Given the description of an element on the screen output the (x, y) to click on. 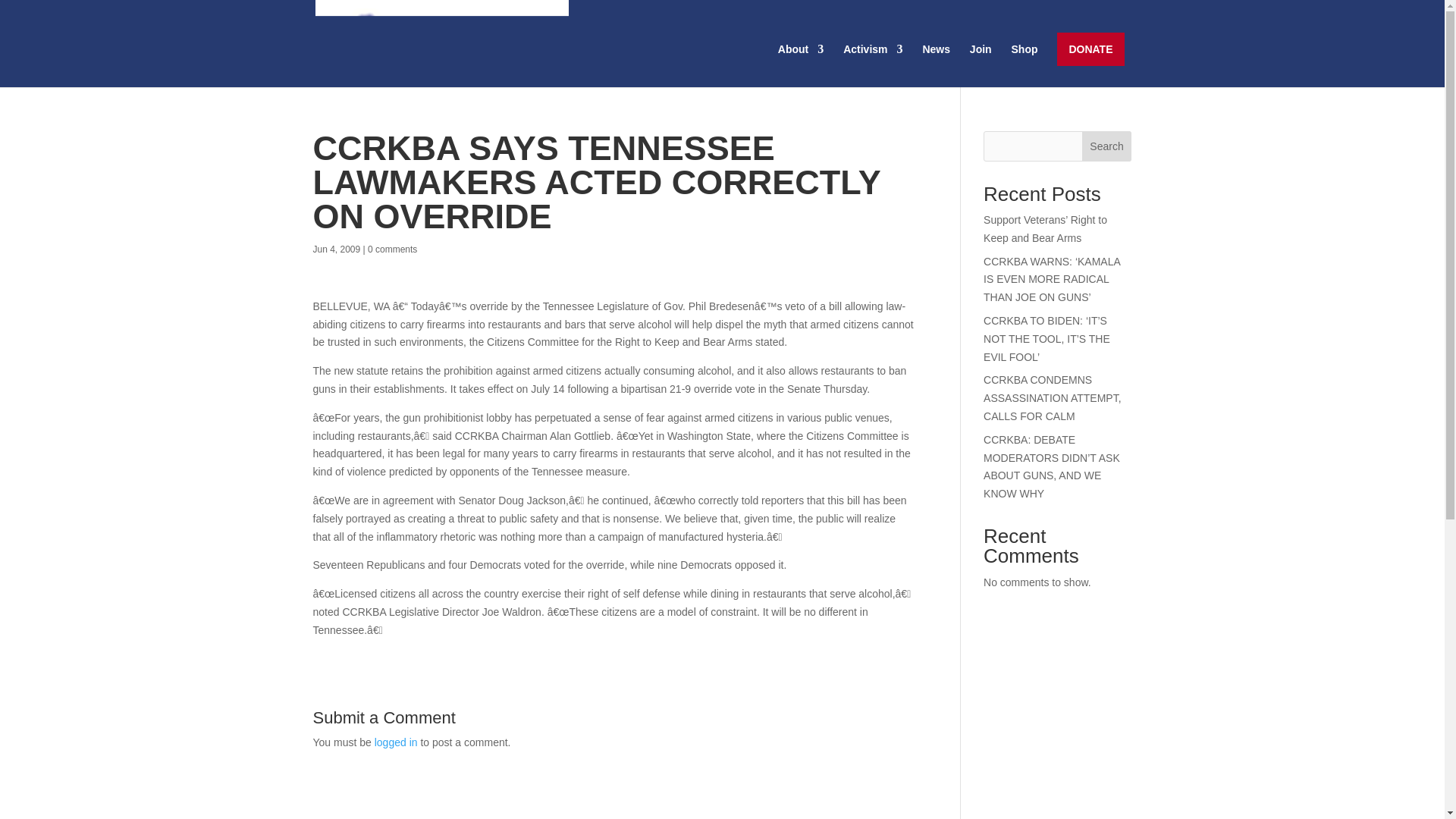
Search (1106, 146)
About (800, 65)
DONATE (1090, 49)
Activism (872, 65)
CCRKBA CONDEMNS ASSASSINATION ATTEMPT, CALLS FOR CALM (1052, 397)
0 comments (392, 249)
logged in (395, 742)
